Given the description of an element on the screen output the (x, y) to click on. 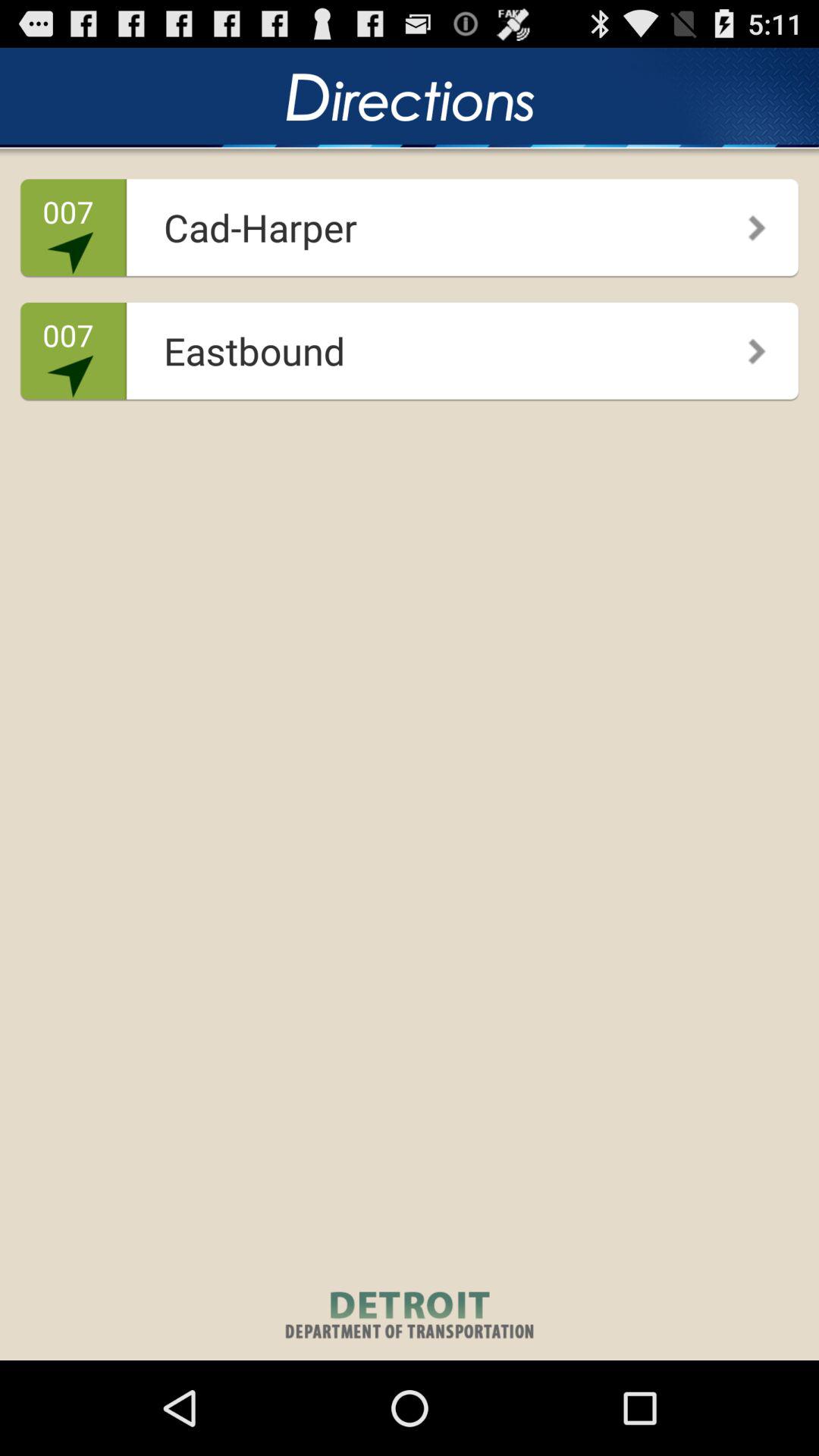
scroll until eastbound app (404, 345)
